Given the description of an element on the screen output the (x, y) to click on. 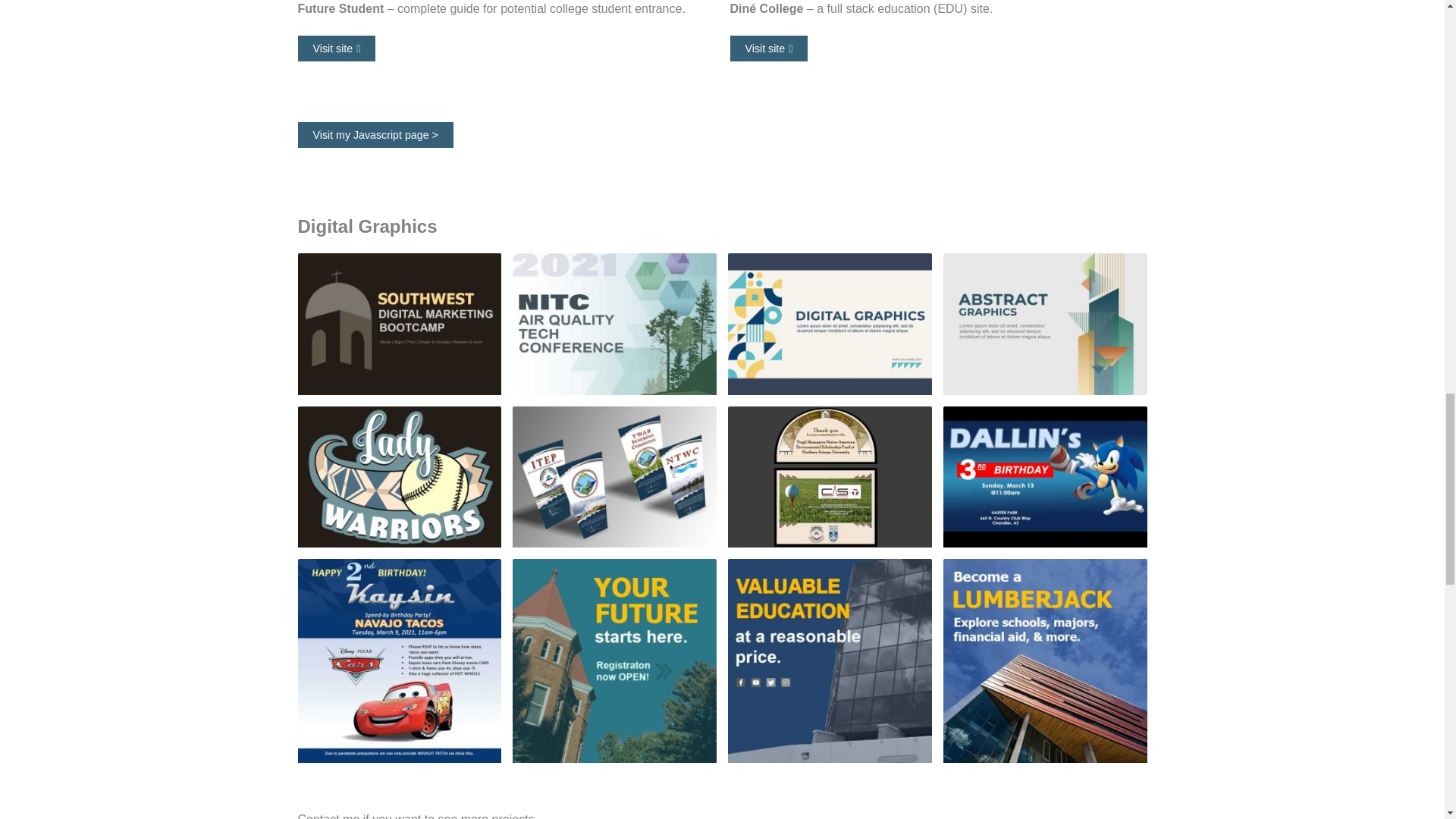
Visit site (768, 48)
Visit site (336, 48)
